Given the description of an element on the screen output the (x, y) to click on. 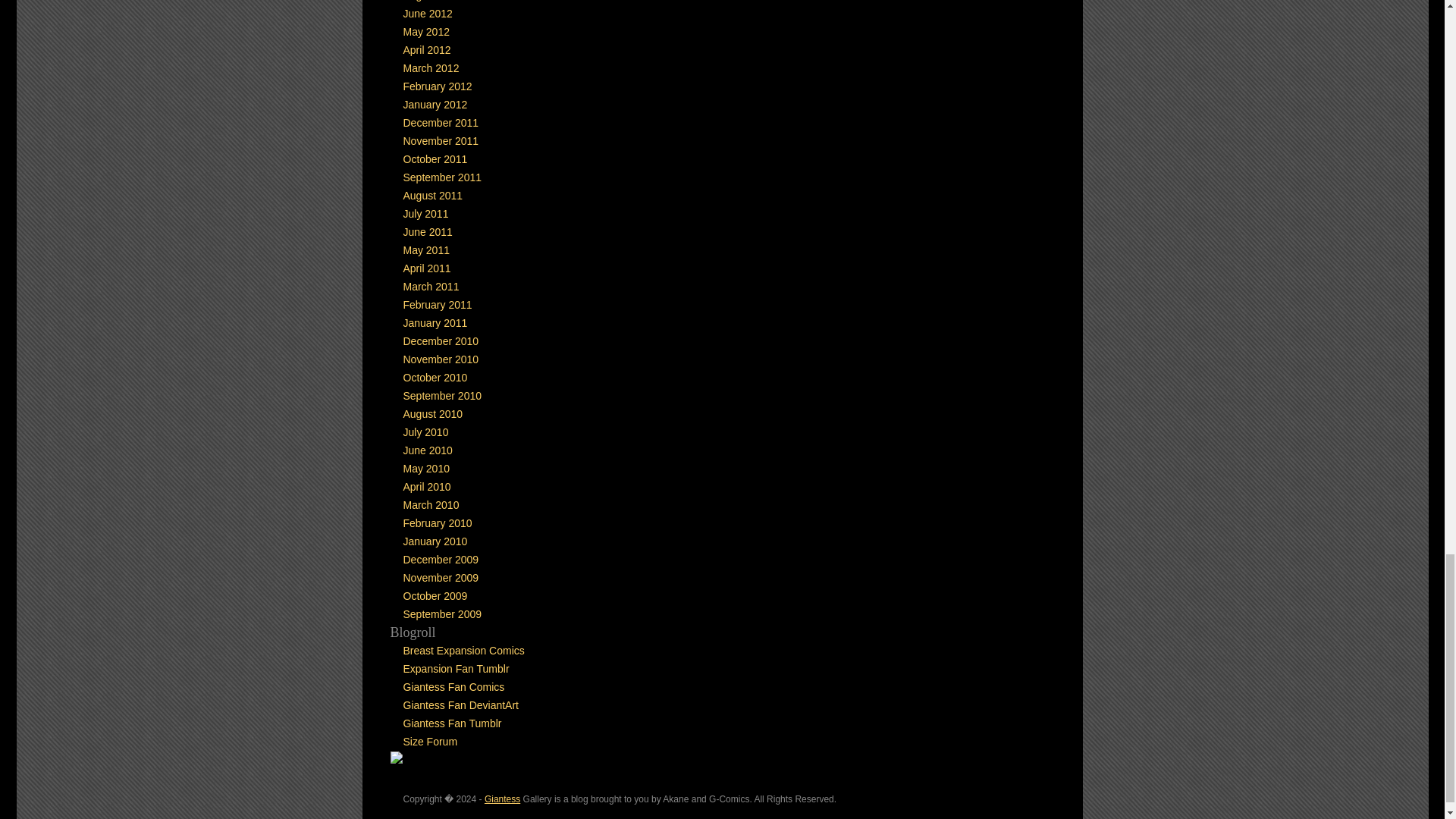
A forum to discuss all size related fetishes. (430, 741)
Giantess (501, 798)
